Given the description of an element on the screen output the (x, y) to click on. 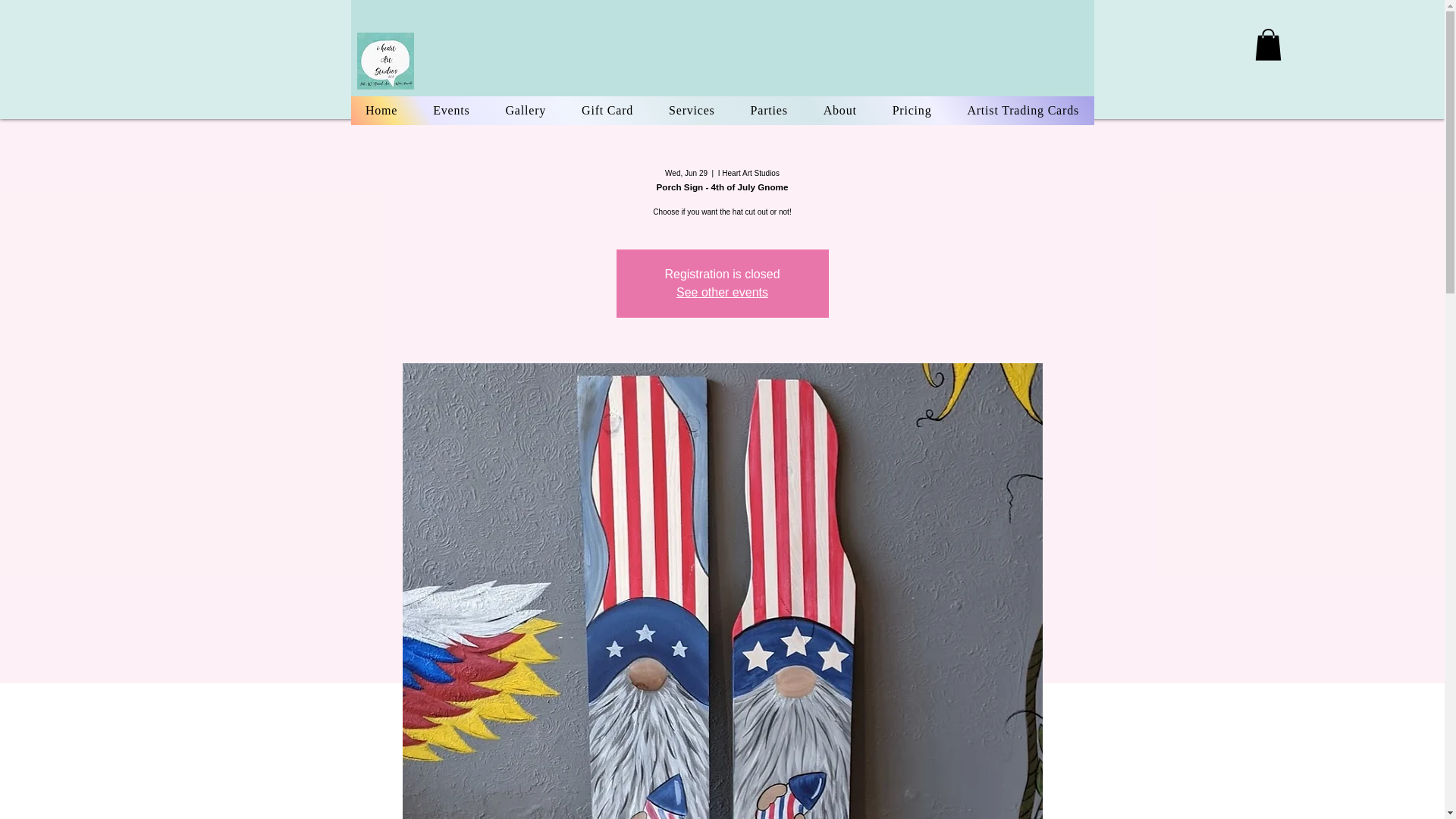
Events (451, 110)
Gallery (525, 110)
See other events (722, 291)
About (839, 110)
Parties (768, 110)
Gift Card (607, 110)
Services (691, 110)
Pricing (911, 110)
Artist Trading Cards (1023, 110)
Home (381, 110)
